Given the description of an element on the screen output the (x, y) to click on. 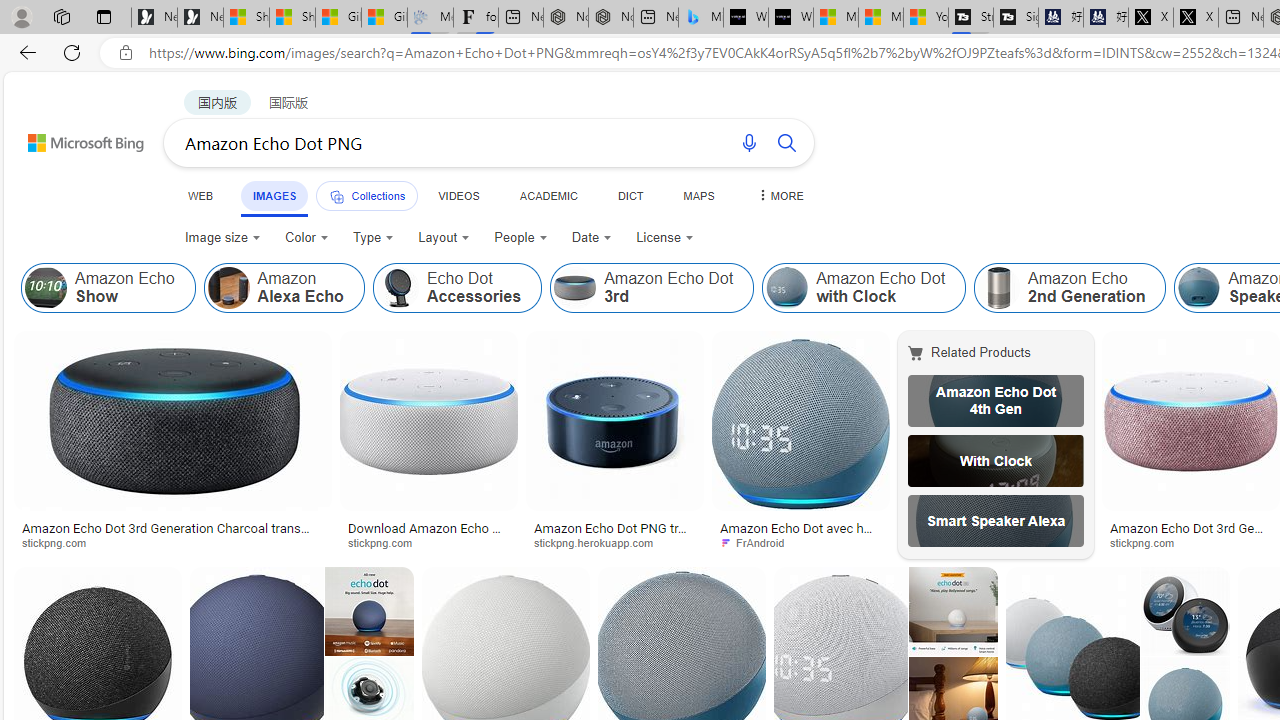
With Clock (995, 460)
